Given the description of an element on the screen output the (x, y) to click on. 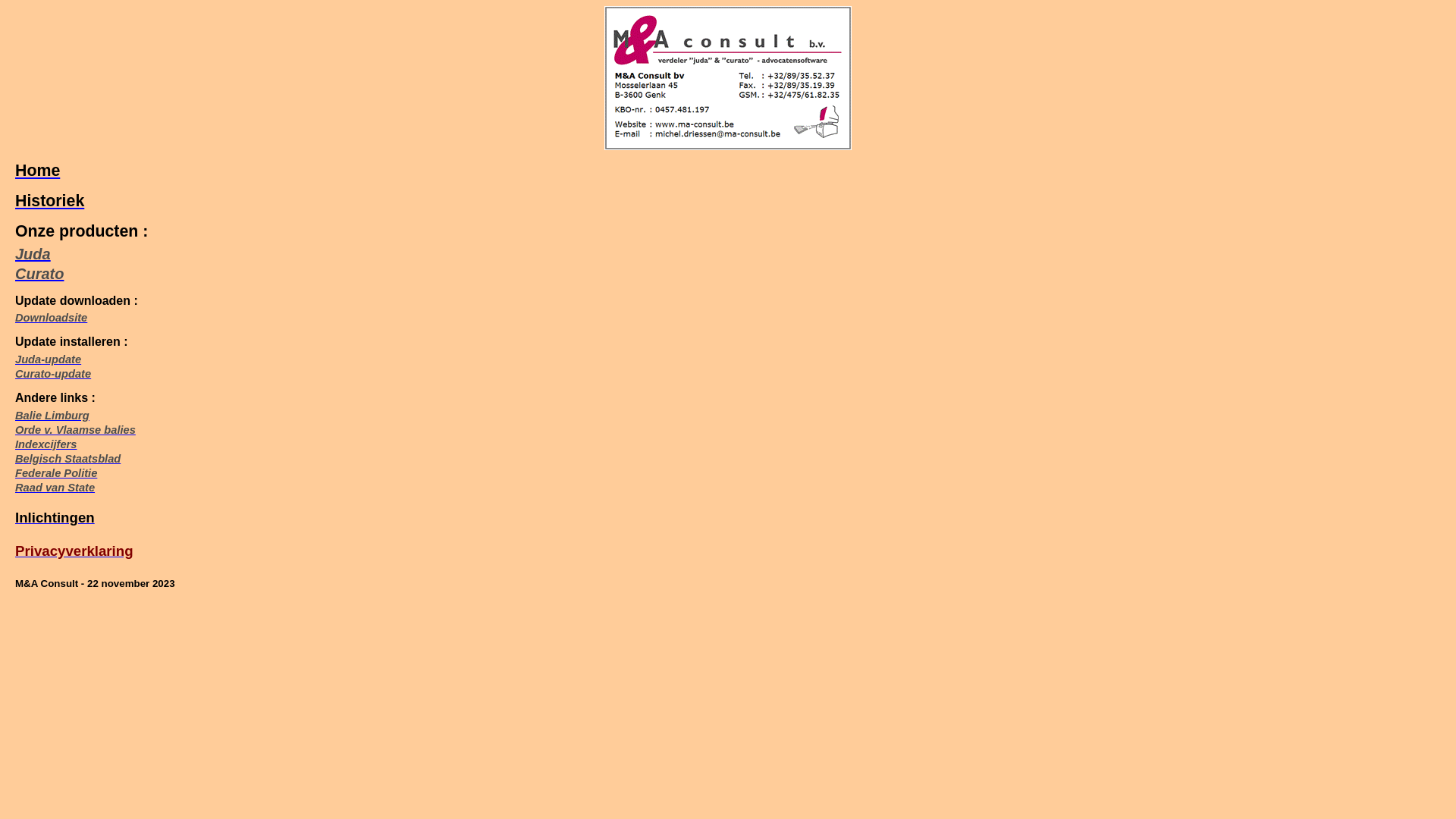
Inlichtingen Element type: text (54, 517)
Belgisch Staatsblad Element type: text (67, 458)
Raad van State Element type: text (54, 487)
Curato-update Element type: text (53, 373)
Curato Element type: text (39, 273)
Historiek Element type: text (49, 200)
Orde v. Vlaamse balies Element type: text (75, 429)
Juda Element type: text (32, 253)
Federale Politie Element type: text (56, 473)
Indexcijfers Element type: text (45, 444)
Privacyverklaring Element type: text (74, 550)
Juda-update Element type: text (48, 359)
Downloadsite Element type: text (51, 317)
Balie Limburg Element type: text (52, 415)
Home Element type: text (37, 170)
